Given the description of an element on the screen output the (x, y) to click on. 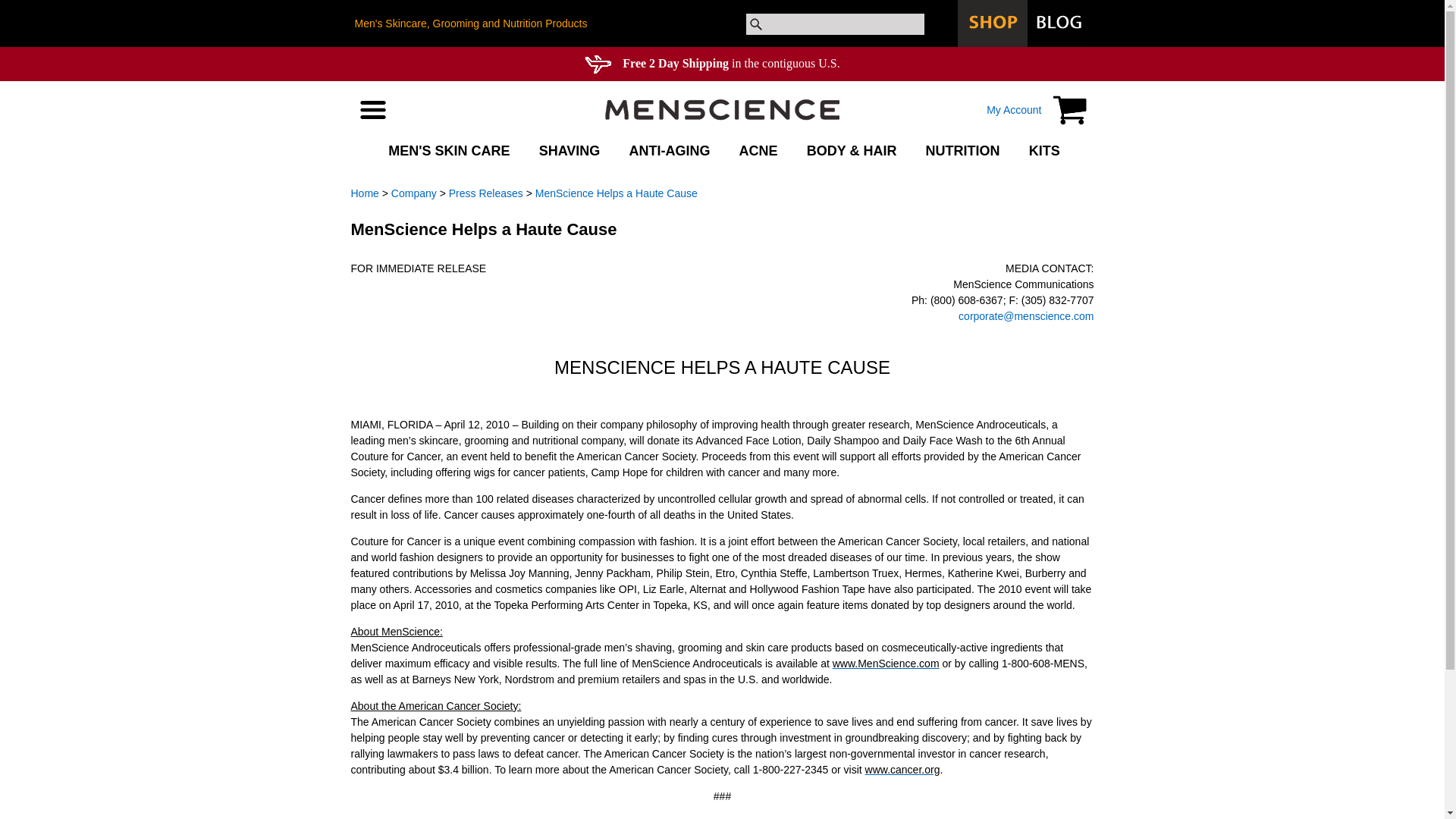
Men's Skincare, Grooming and Nutrition Products (471, 23)
